Given the description of an element on the screen output the (x, y) to click on. 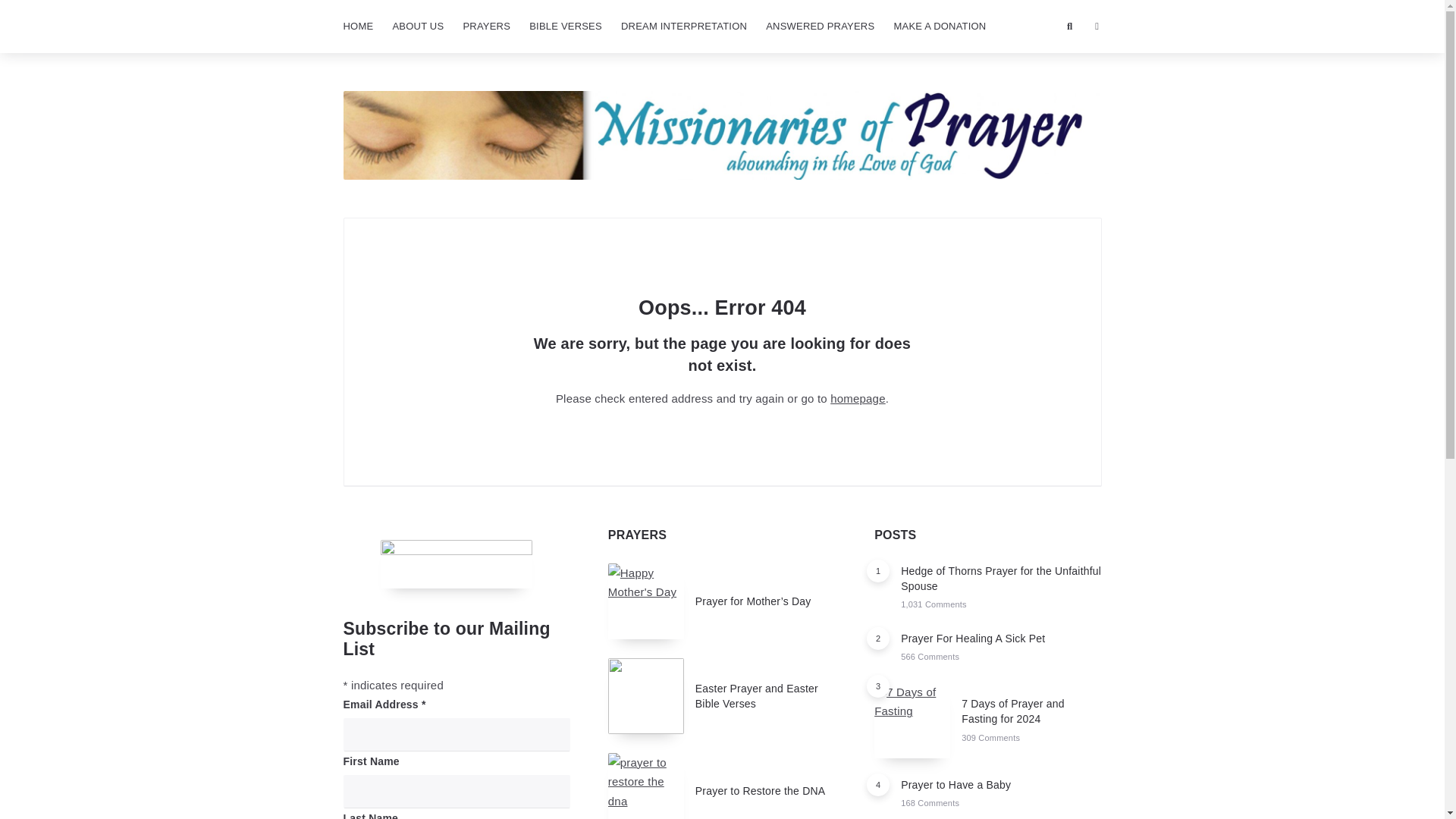
ABOUT US (417, 26)
BIBLE VERSES (565, 26)
MAKE A DONATION (938, 26)
HOME (357, 26)
DREAM INTERPRETATION (683, 26)
PRAYERS (485, 26)
ANSWERED PRAYERS (820, 26)
